Given the description of an element on the screen output the (x, y) to click on. 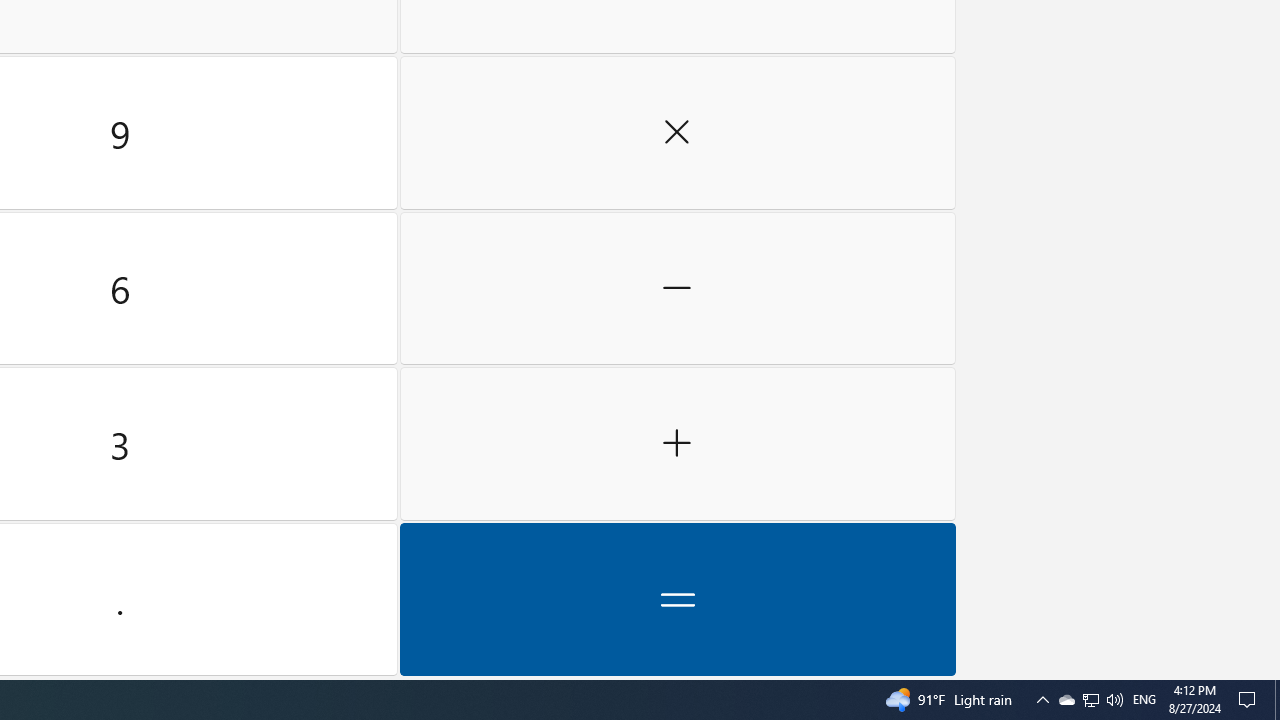
Minus (677, 288)
Plus (677, 444)
Multiply by (677, 133)
Equals (677, 599)
